Given the description of an element on the screen output the (x, y) to click on. 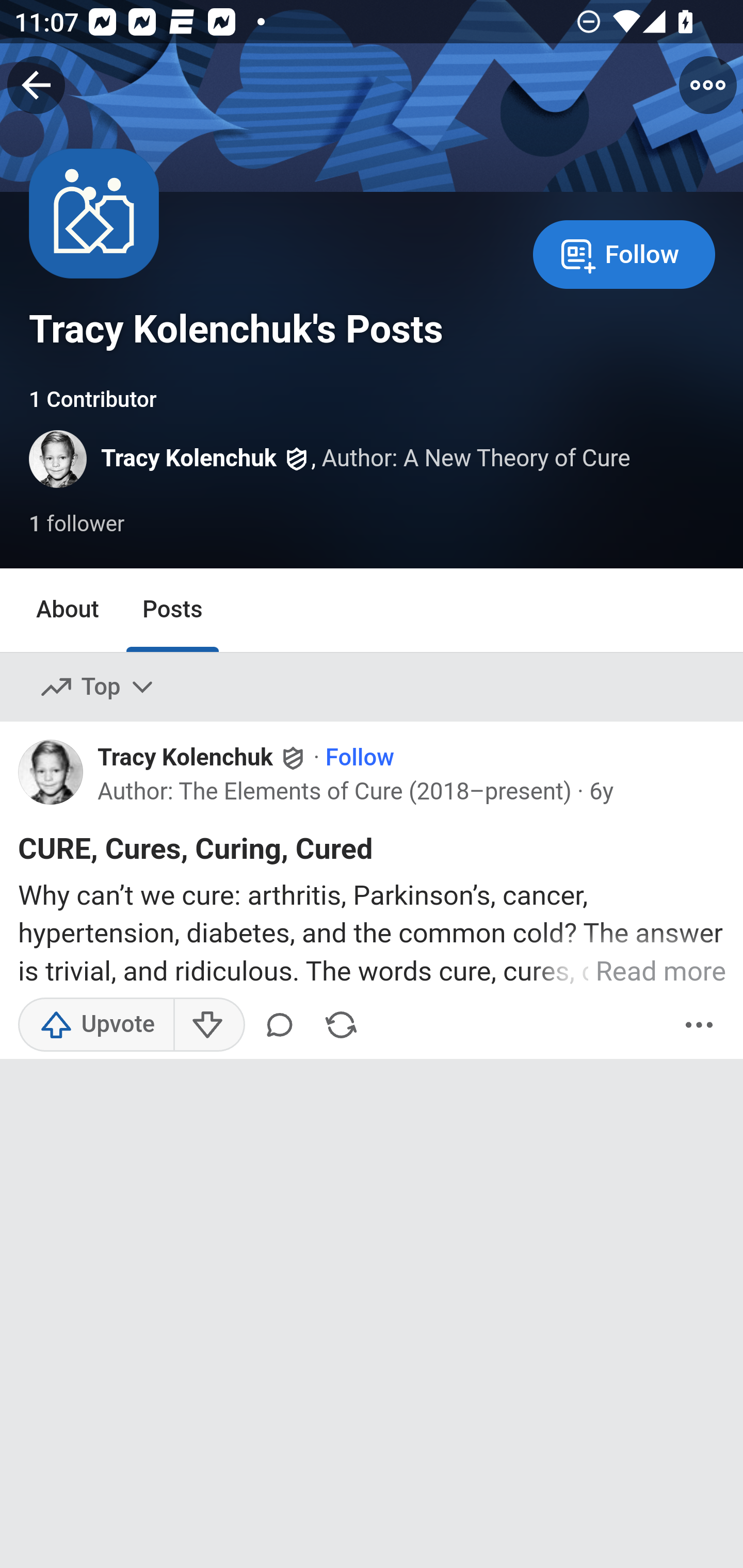
Follow (623, 252)
Tracy Kolenchuk's Posts (236, 329)
Profile photo for Tracy Kolenchuk (58, 459)
Tracy Kolenchuk (189, 458)
1 follower (77, 524)
About (68, 610)
Posts (171, 610)
Top (97, 686)
Profile photo for Tracy Kolenchuk (50, 771)
Tracy Kolenchuk Tracy Kolenchuk   (202, 758)
Follow (360, 758)
Upvote (95, 1024)
Downvote (208, 1024)
Comment (283, 1024)
Share (341, 1024)
More (699, 1024)
